Given the description of an element on the screen output the (x, y) to click on. 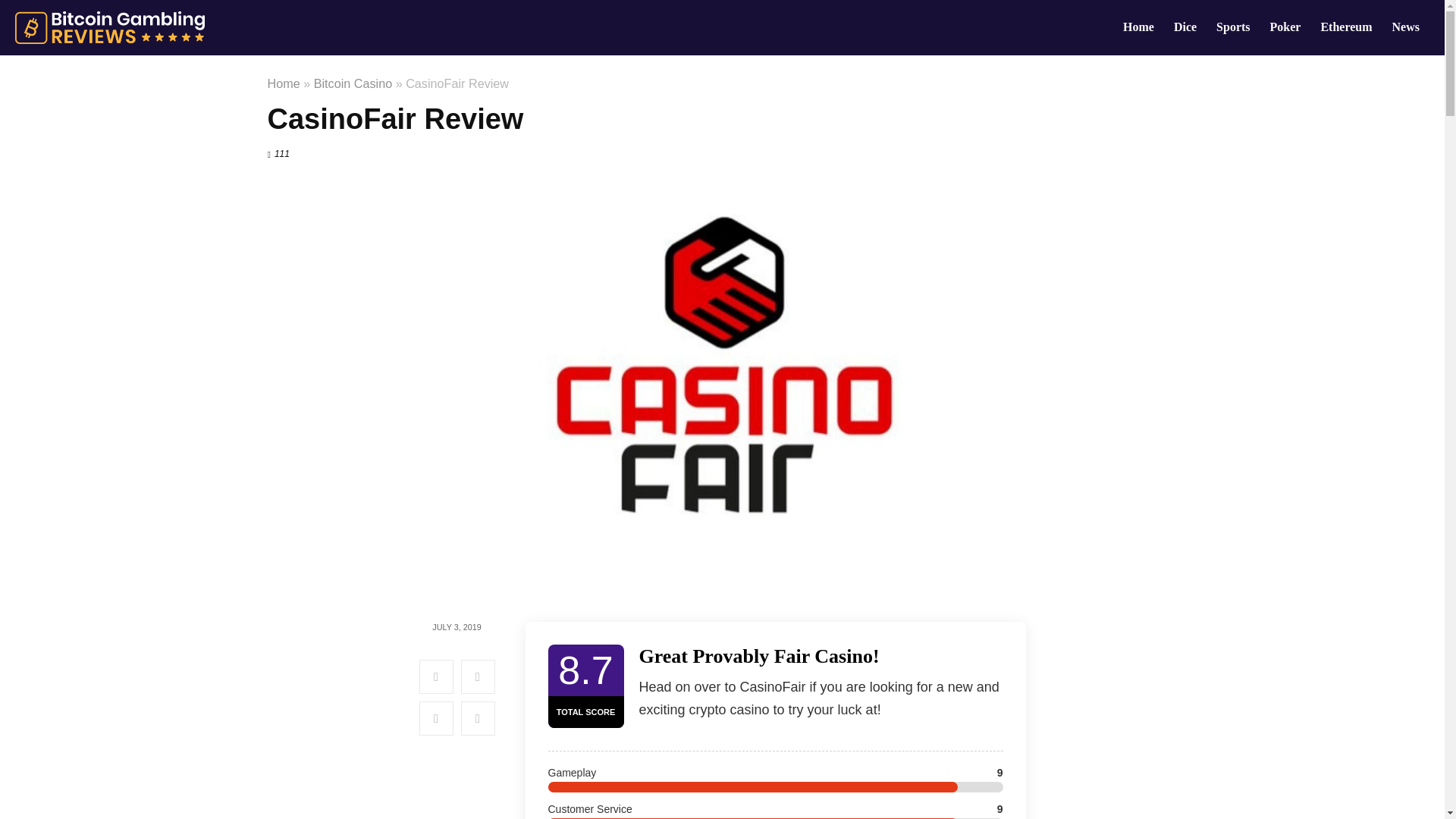
Sports (1233, 27)
Ethereum (1345, 27)
Bitcoin Casino (352, 83)
Poker (1285, 27)
News (1405, 27)
Dice (1185, 27)
Home (1138, 27)
Home (282, 83)
